Given the description of an element on the screen output the (x, y) to click on. 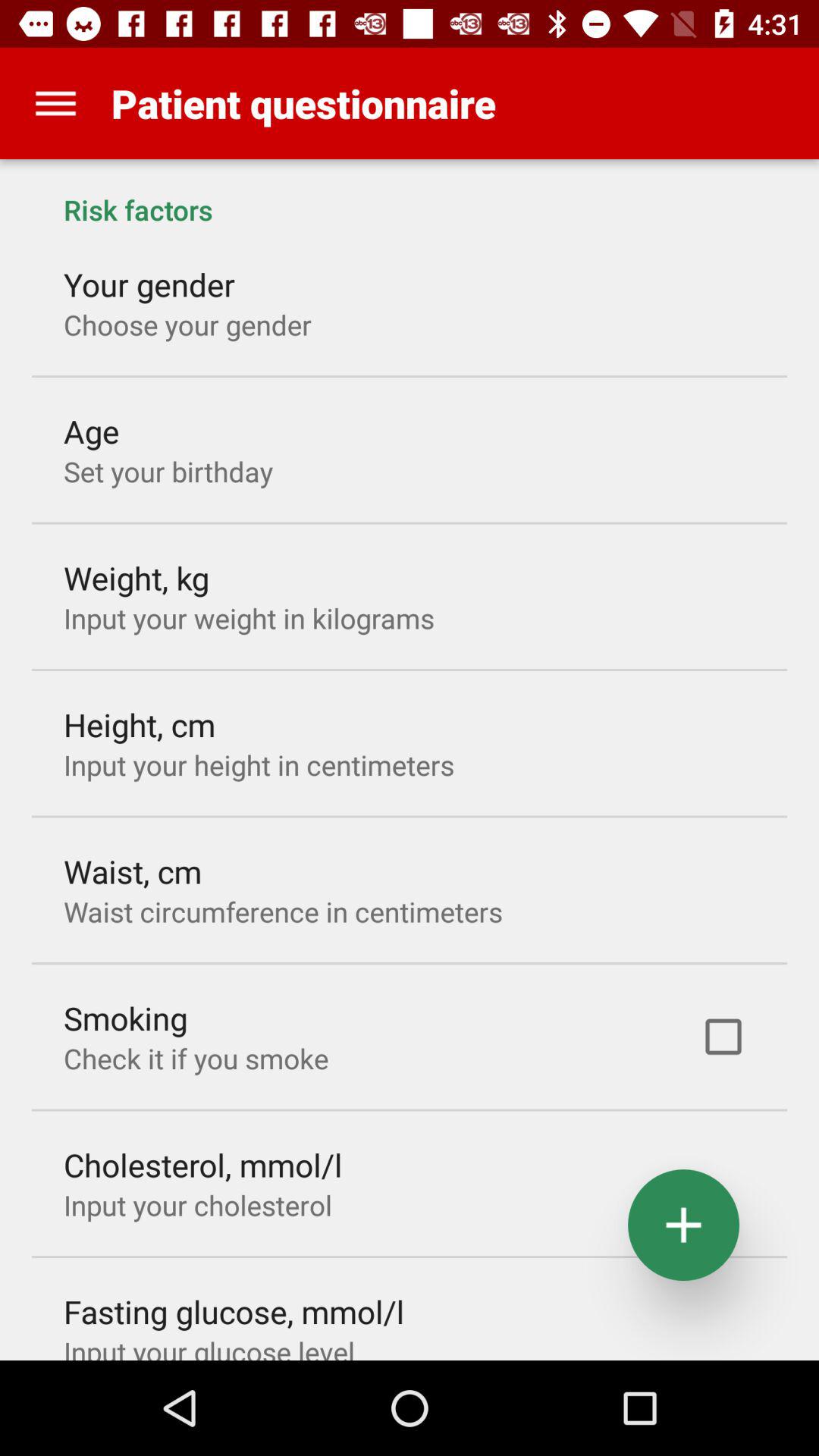
launch icon to the right of check it if (723, 1036)
